Given the description of an element on the screen output the (x, y) to click on. 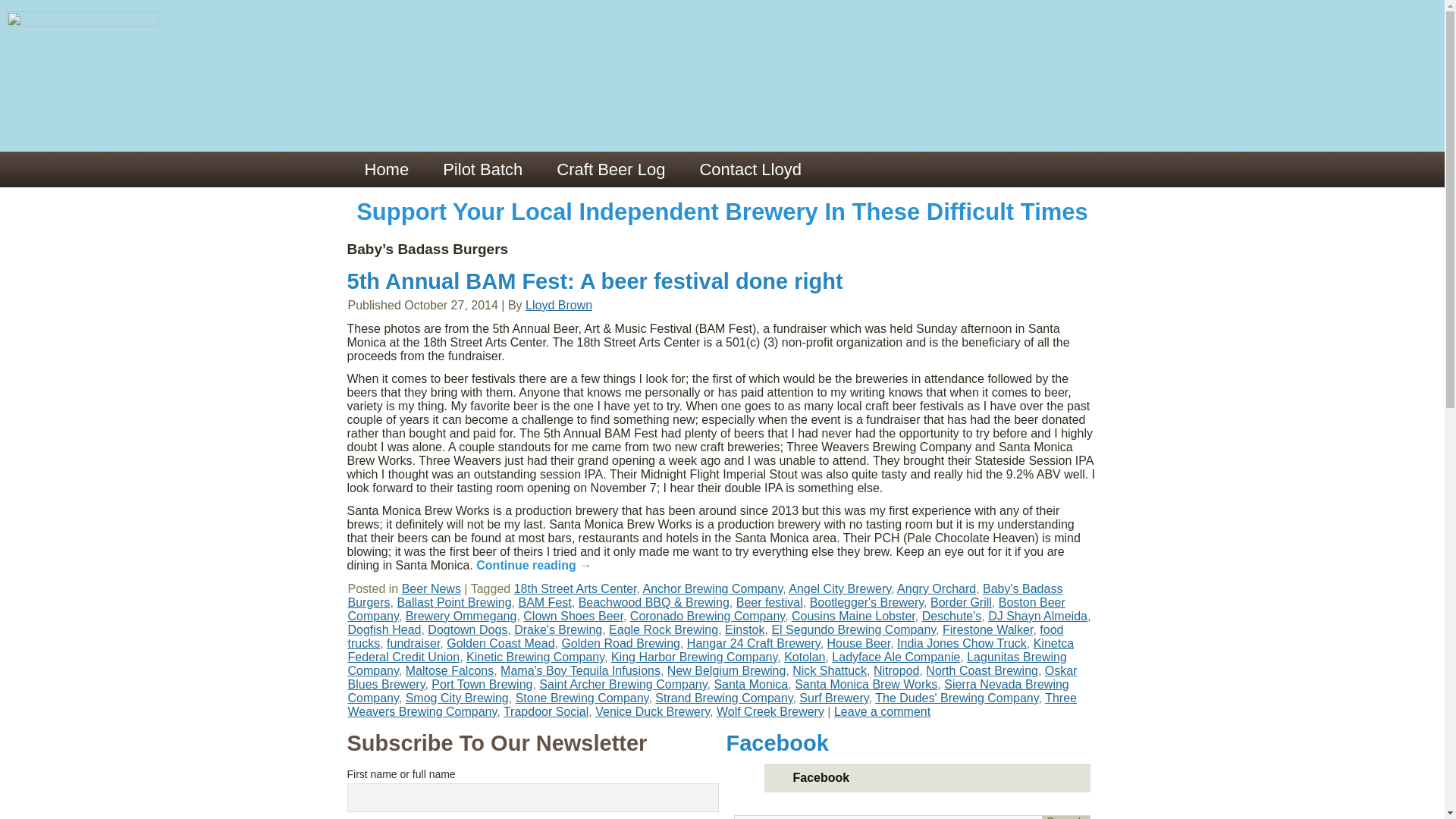
Lloyd Brown (558, 305)
Dogfish Head (383, 629)
Brewery Ommegang (461, 615)
El Segundo Brewing Company (853, 629)
Einstok (744, 629)
Search (1065, 817)
Beer News (431, 588)
Craft Beer Log (610, 169)
Coronado Brewing Company (707, 615)
Drake's Brewing (557, 629)
